Given the description of an element on the screen output the (x, y) to click on. 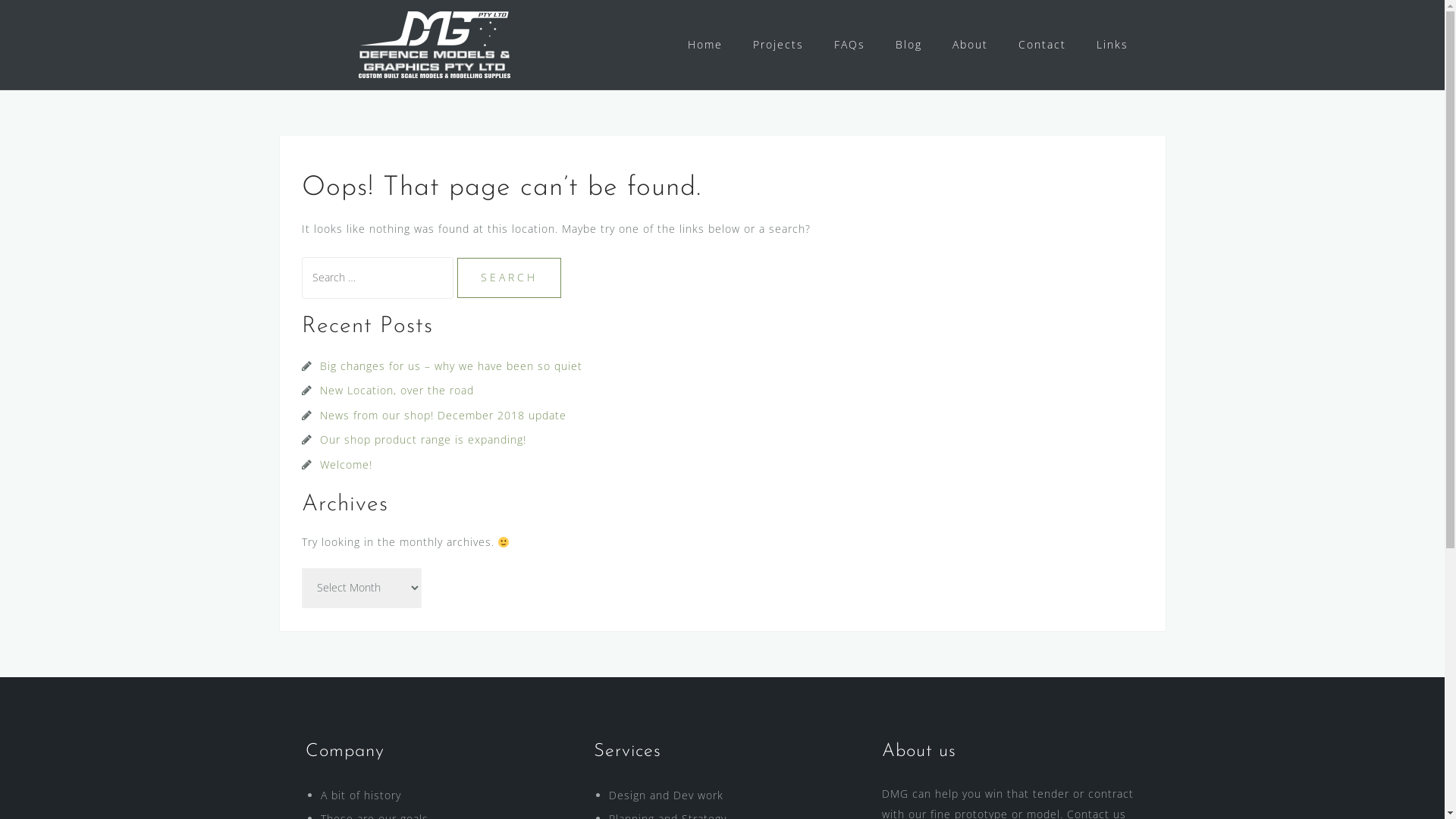
About Element type: text (970, 44)
News from our shop! December 2018 update Element type: text (443, 414)
Home Element type: text (704, 44)
Design and Dev work Element type: text (665, 794)
Search Element type: text (508, 277)
Our shop product range is expanding! Element type: text (423, 439)
FAQs Element type: text (849, 44)
New Location, over the road Element type: text (396, 389)
Welcome! Element type: text (346, 464)
Blog Element type: text (907, 44)
Links Element type: text (1112, 44)
A bit of history Element type: text (360, 794)
Contact Element type: text (1041, 44)
Projects Element type: text (777, 44)
